Given the description of an element on the screen output the (x, y) to click on. 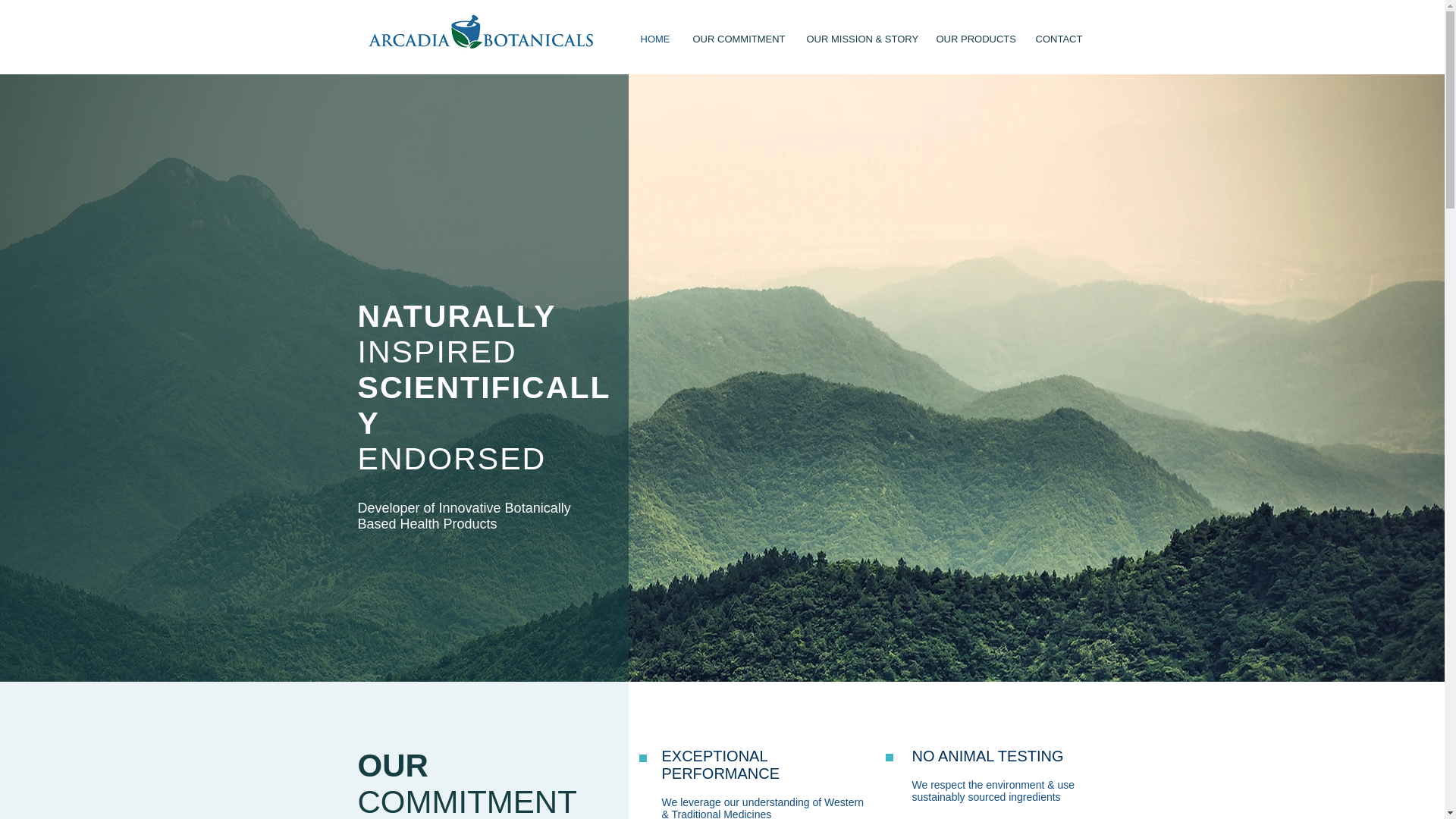
CONTACT (1058, 38)
OUR COMMITMENT (737, 38)
OUR PRODUCTS (974, 38)
HOME (654, 38)
